Given the description of an element on the screen output the (x, y) to click on. 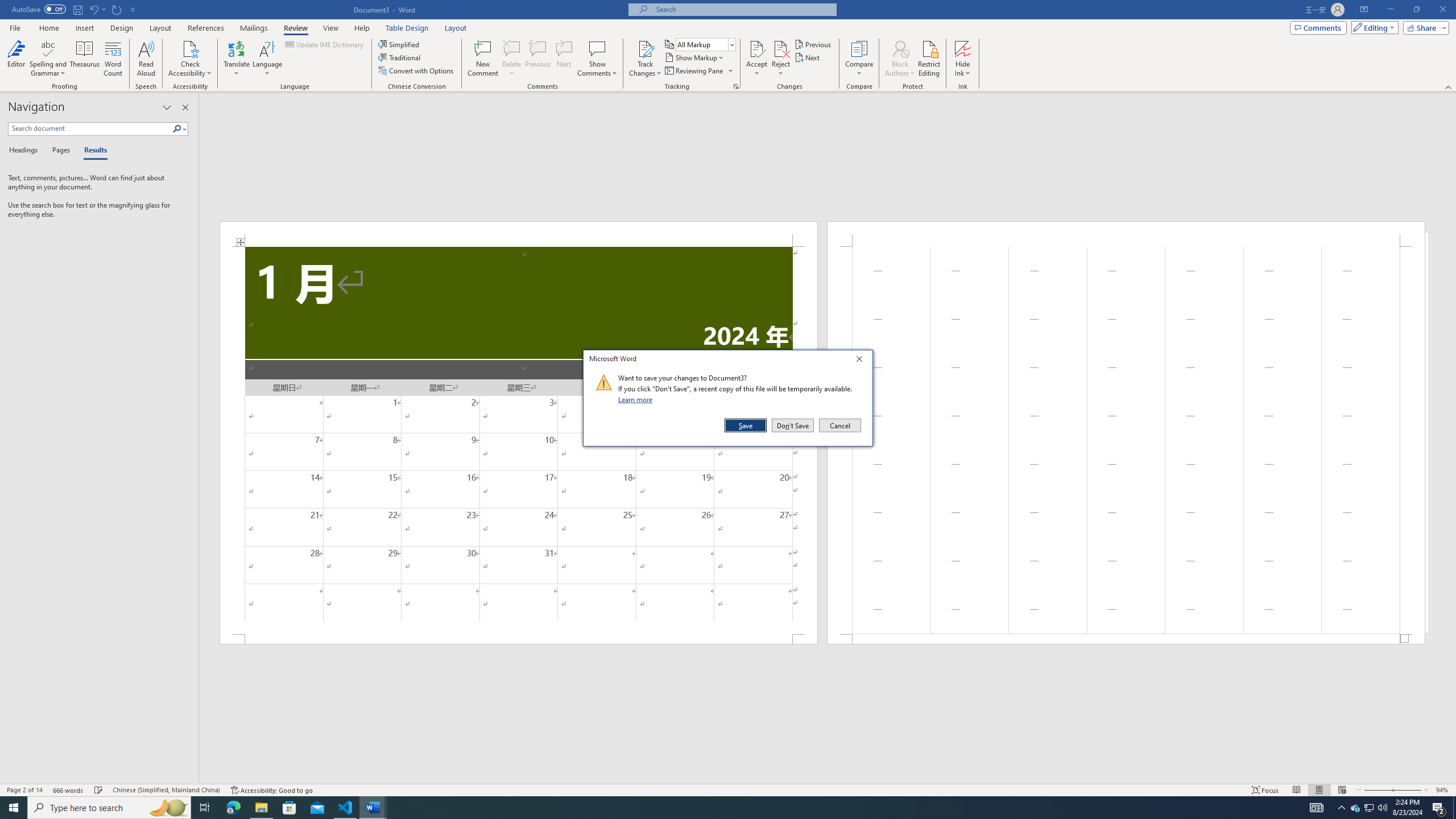
Hide Ink (962, 48)
Restrict Editing (929, 58)
Reject (780, 58)
Action Center, 2 new notifications (1439, 807)
Repeat Doc Close (117, 9)
Accept and Move to Next (756, 48)
Spelling and Grammar (48, 58)
